Given the description of an element on the screen output the (x, y) to click on. 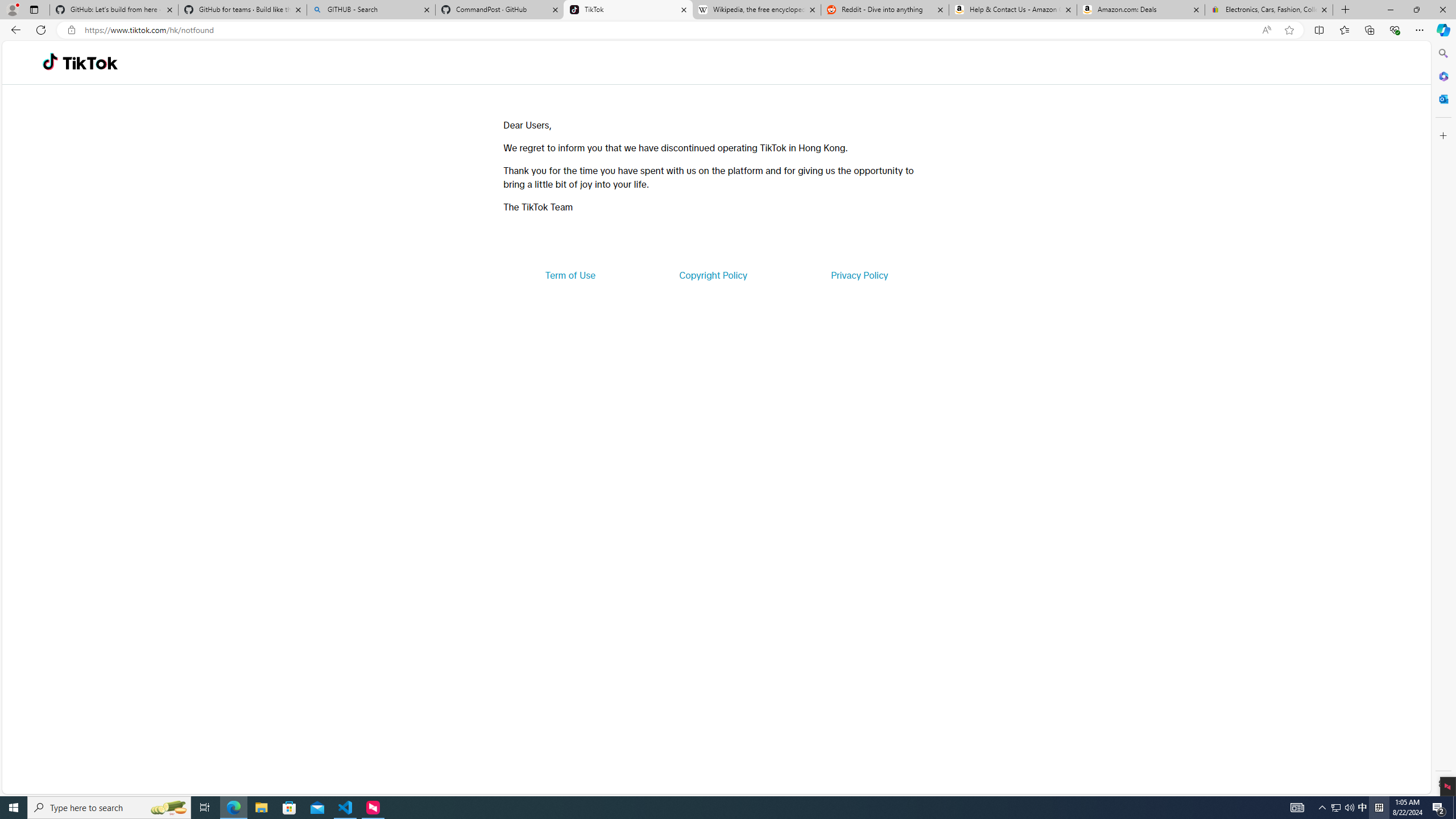
Privacy Policy (858, 274)
Copyright Policy (712, 274)
Amazon.com: Deals (1140, 9)
